Given the description of an element on the screen output the (x, y) to click on. 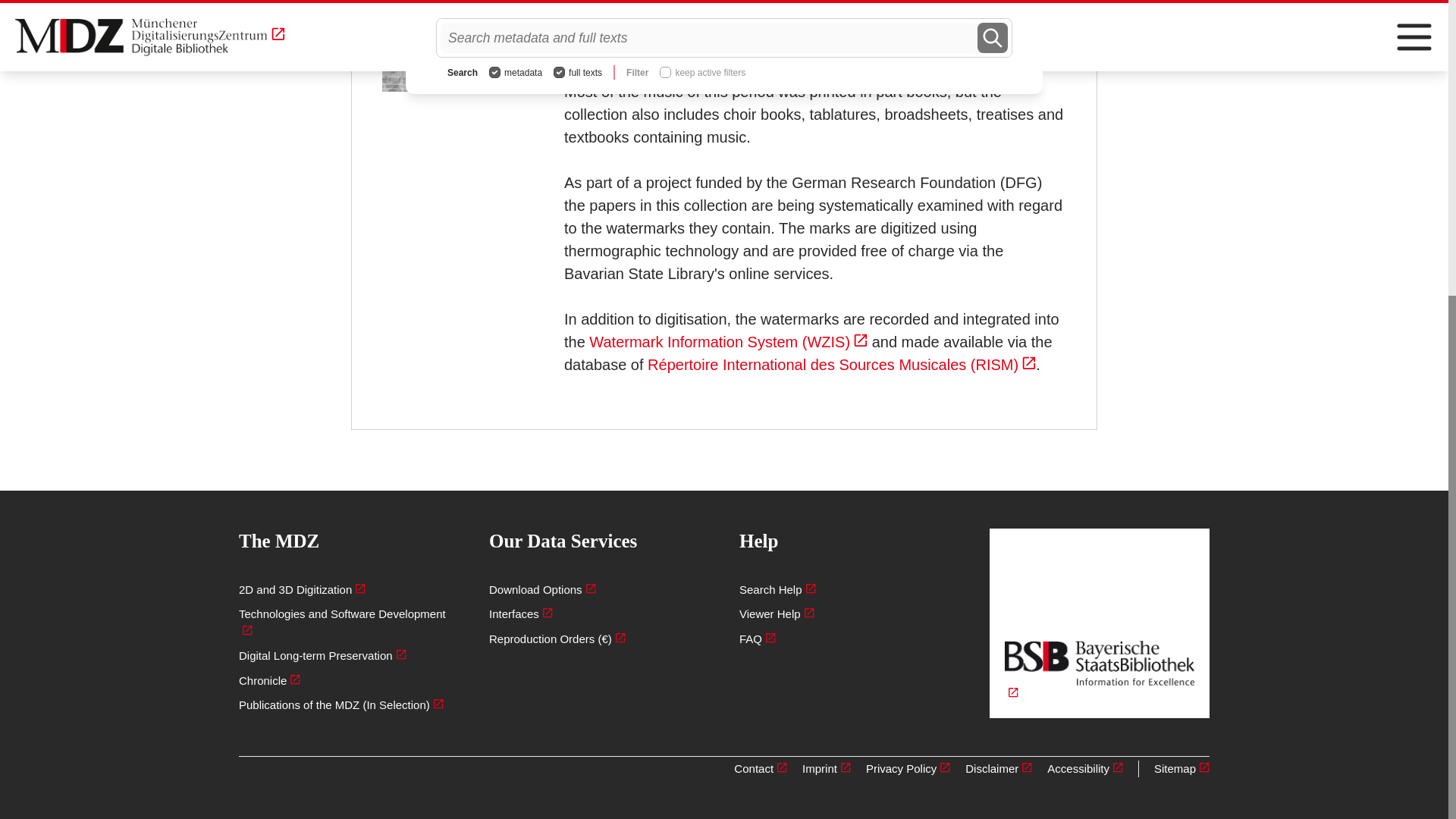
Download Options (599, 590)
Chronicle (348, 681)
Interfaces (599, 614)
2D and 3D Digitization (348, 590)
Digital Long-term Preservation (348, 656)
Technologies and Software Development (348, 622)
